Given the description of an element on the screen output the (x, y) to click on. 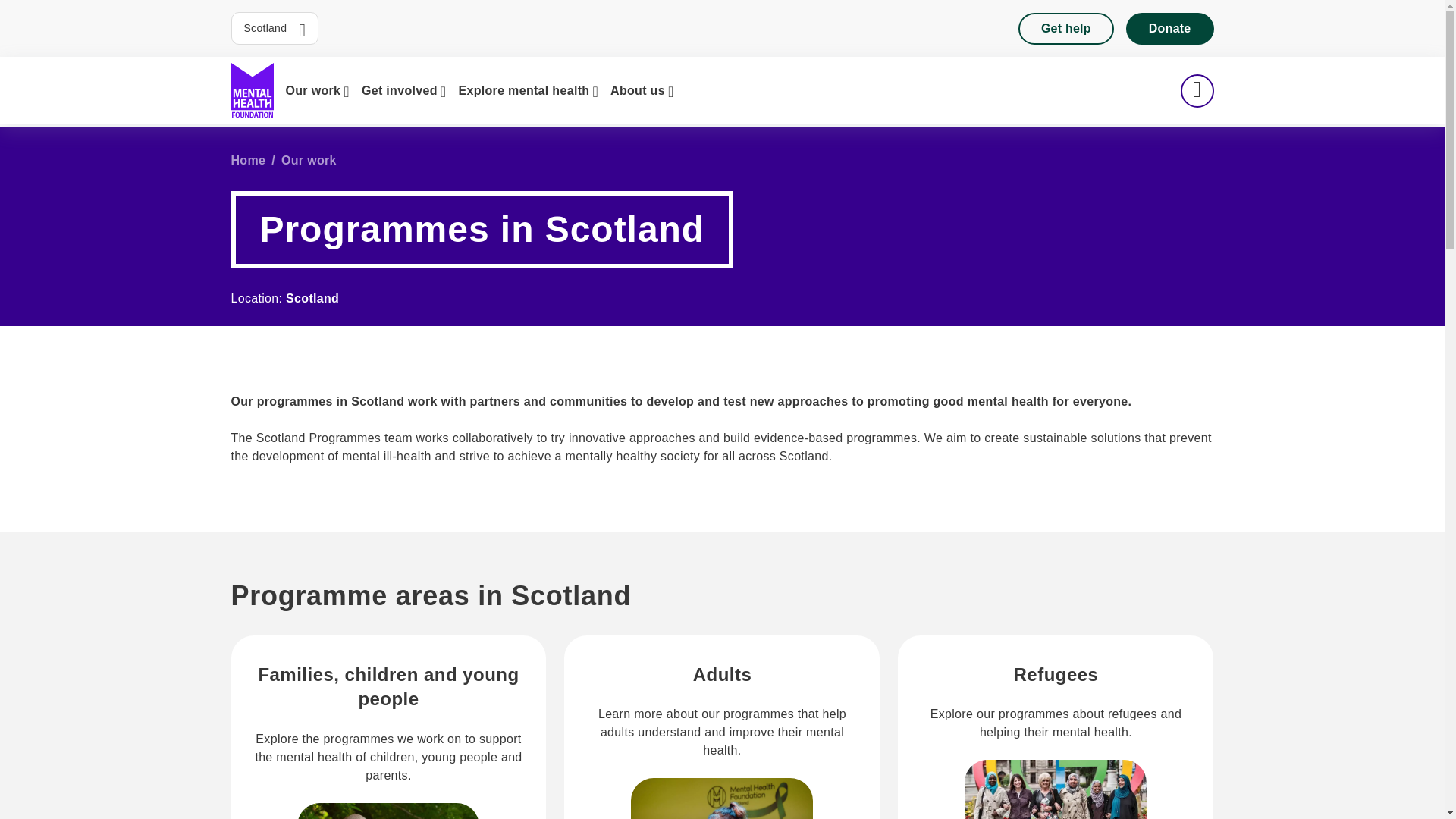
About us (641, 90)
Get involved (403, 90)
Explore mental health (527, 90)
Scotland (274, 28)
Donate (1169, 28)
Our work (317, 90)
Get help (1065, 28)
